Given the description of an element on the screen output the (x, y) to click on. 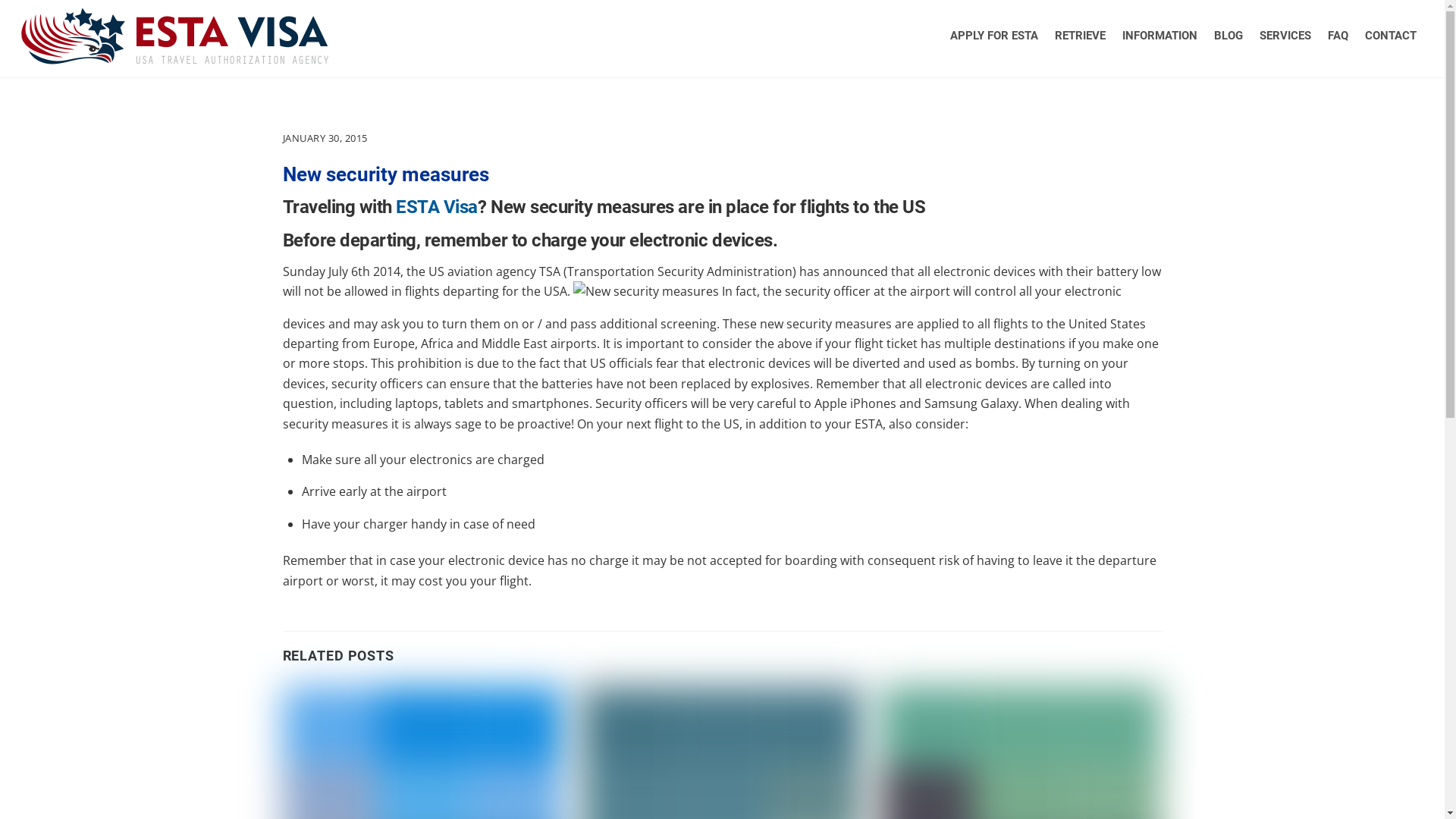
APPLY FOR ESTA Element type: text (993, 35)
ESTA Visa Element type: hover (174, 56)
FAQ Element type: text (1338, 35)
ESTA Visa Element type: text (436, 206)
CONTACT Element type: text (1390, 35)
SERVICES Element type: text (1284, 35)
RETRIEVE Element type: text (1080, 35)
INFORMATION Element type: text (1159, 35)
BLOG Element type: text (1228, 35)
visa-esta-logo Element type: hover (174, 35)
